Given the description of an element on the screen output the (x, y) to click on. 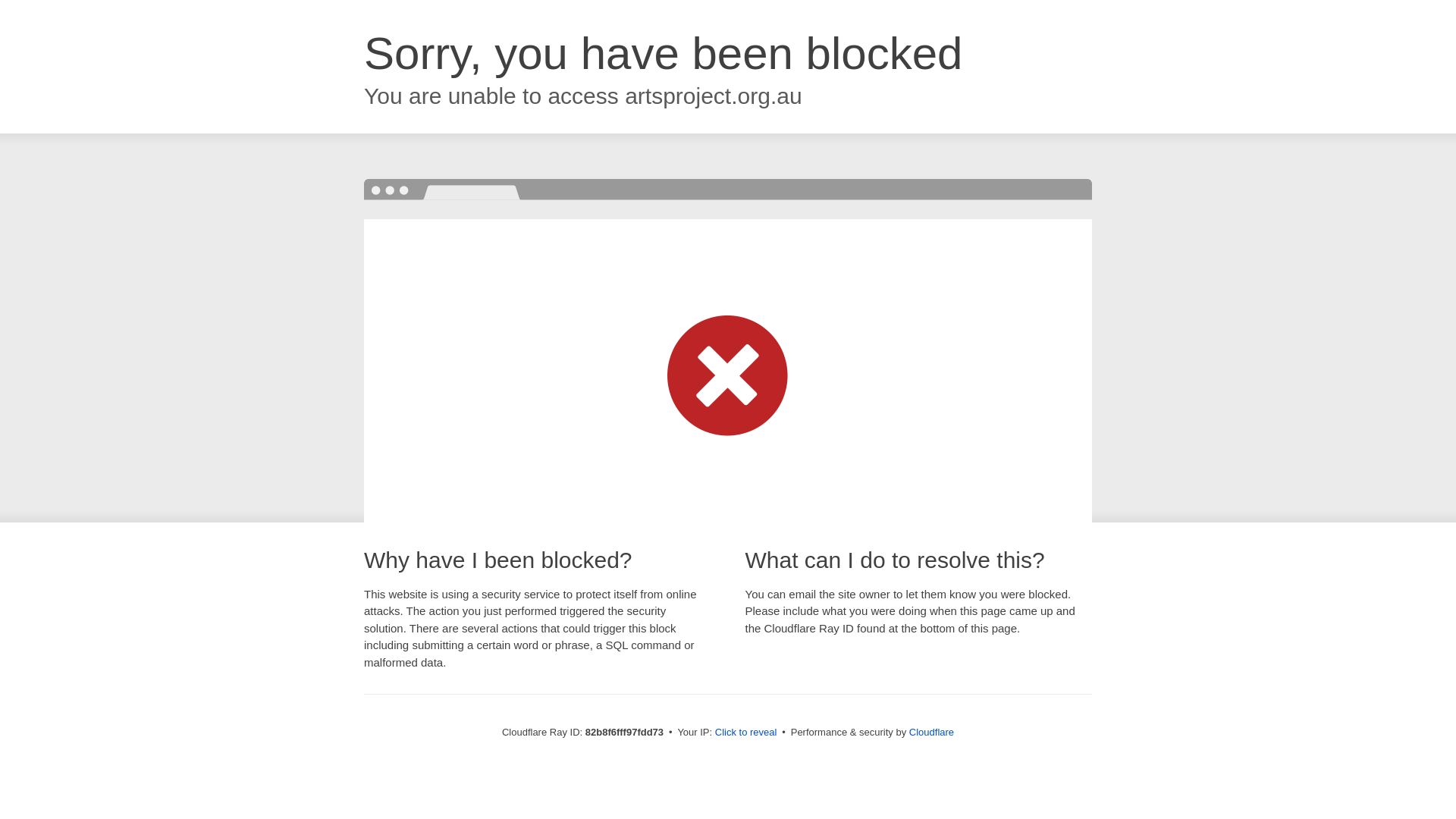
Cloudflare Element type: text (931, 731)
Click to reveal Element type: text (746, 732)
